Given the description of an element on the screen output the (x, y) to click on. 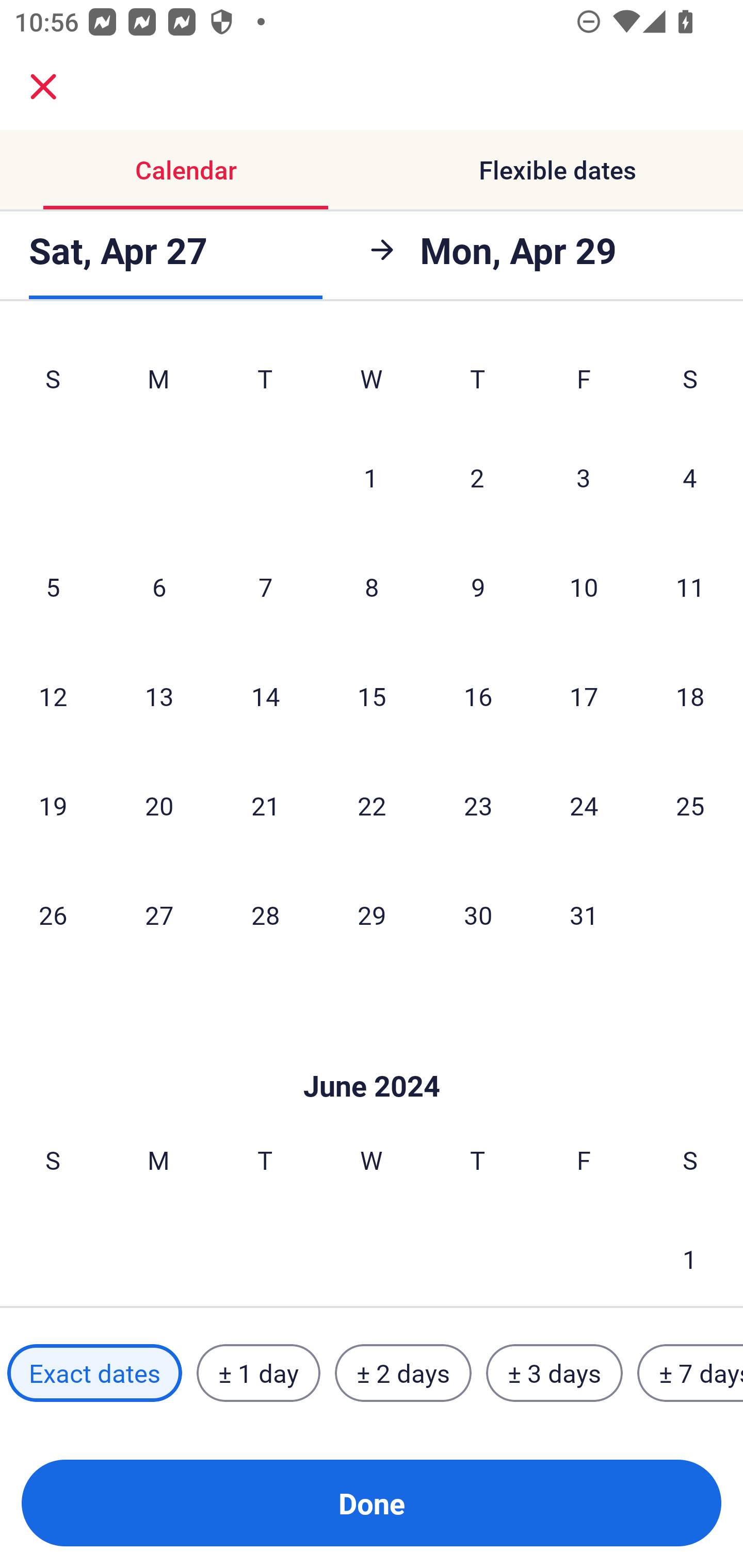
close. (43, 86)
Flexible dates (557, 170)
1 Wednesday, May 1, 2024 (371, 476)
2 Thursday, May 2, 2024 (477, 476)
3 Friday, May 3, 2024 (583, 476)
4 Saturday, May 4, 2024 (689, 476)
5 Sunday, May 5, 2024 (53, 586)
6 Monday, May 6, 2024 (159, 586)
7 Tuesday, May 7, 2024 (265, 586)
8 Wednesday, May 8, 2024 (371, 586)
9 Thursday, May 9, 2024 (477, 586)
10 Friday, May 10, 2024 (584, 586)
11 Saturday, May 11, 2024 (690, 586)
12 Sunday, May 12, 2024 (53, 695)
13 Monday, May 13, 2024 (159, 695)
14 Tuesday, May 14, 2024 (265, 695)
15 Wednesday, May 15, 2024 (371, 695)
16 Thursday, May 16, 2024 (477, 695)
17 Friday, May 17, 2024 (584, 695)
18 Saturday, May 18, 2024 (690, 695)
19 Sunday, May 19, 2024 (53, 804)
20 Monday, May 20, 2024 (159, 804)
21 Tuesday, May 21, 2024 (265, 804)
22 Wednesday, May 22, 2024 (371, 804)
23 Thursday, May 23, 2024 (477, 804)
24 Friday, May 24, 2024 (584, 804)
25 Saturday, May 25, 2024 (690, 804)
26 Sunday, May 26, 2024 (53, 914)
27 Monday, May 27, 2024 (159, 914)
28 Tuesday, May 28, 2024 (265, 914)
29 Wednesday, May 29, 2024 (371, 914)
30 Thursday, May 30, 2024 (477, 914)
31 Friday, May 31, 2024 (584, 914)
Skip to Done (371, 1055)
1 Saturday, June 1, 2024 (689, 1255)
Exact dates (94, 1372)
± 1 day (258, 1372)
± 2 days (403, 1372)
± 3 days (553, 1372)
± 7 days (690, 1372)
Done (371, 1502)
